Given the description of an element on the screen output the (x, y) to click on. 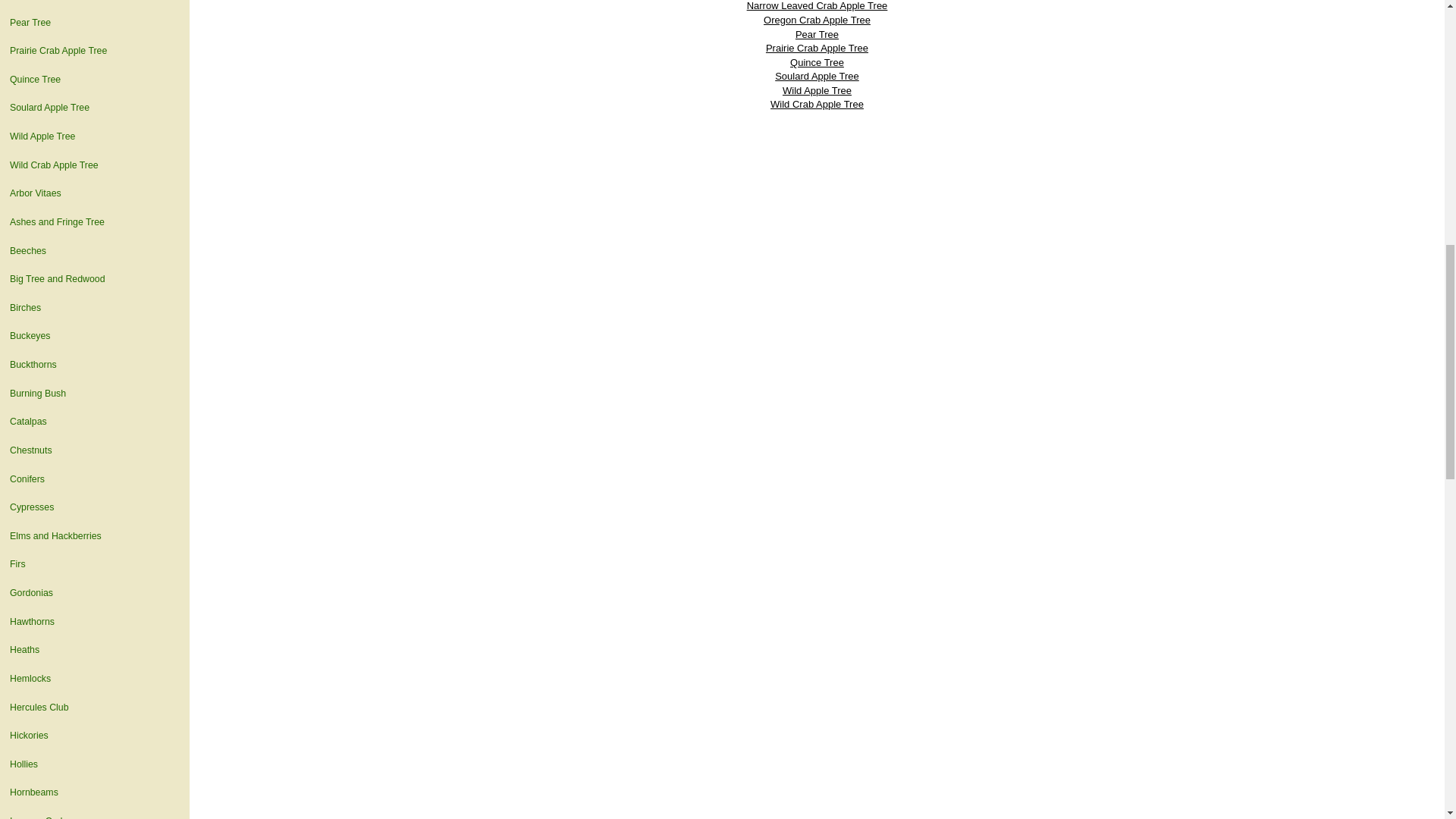
Oregon Crab Apple Tree (94, 4)
Soulard Apple Tree (94, 108)
Chestnuts (94, 451)
Buckthorns (94, 365)
Buckeyes (94, 336)
Pear Tree (94, 23)
Elms and Hackberries (94, 536)
Birches (94, 308)
Wild Apple Tree (94, 136)
Catalpas (94, 421)
